Given the description of an element on the screen output the (x, y) to click on. 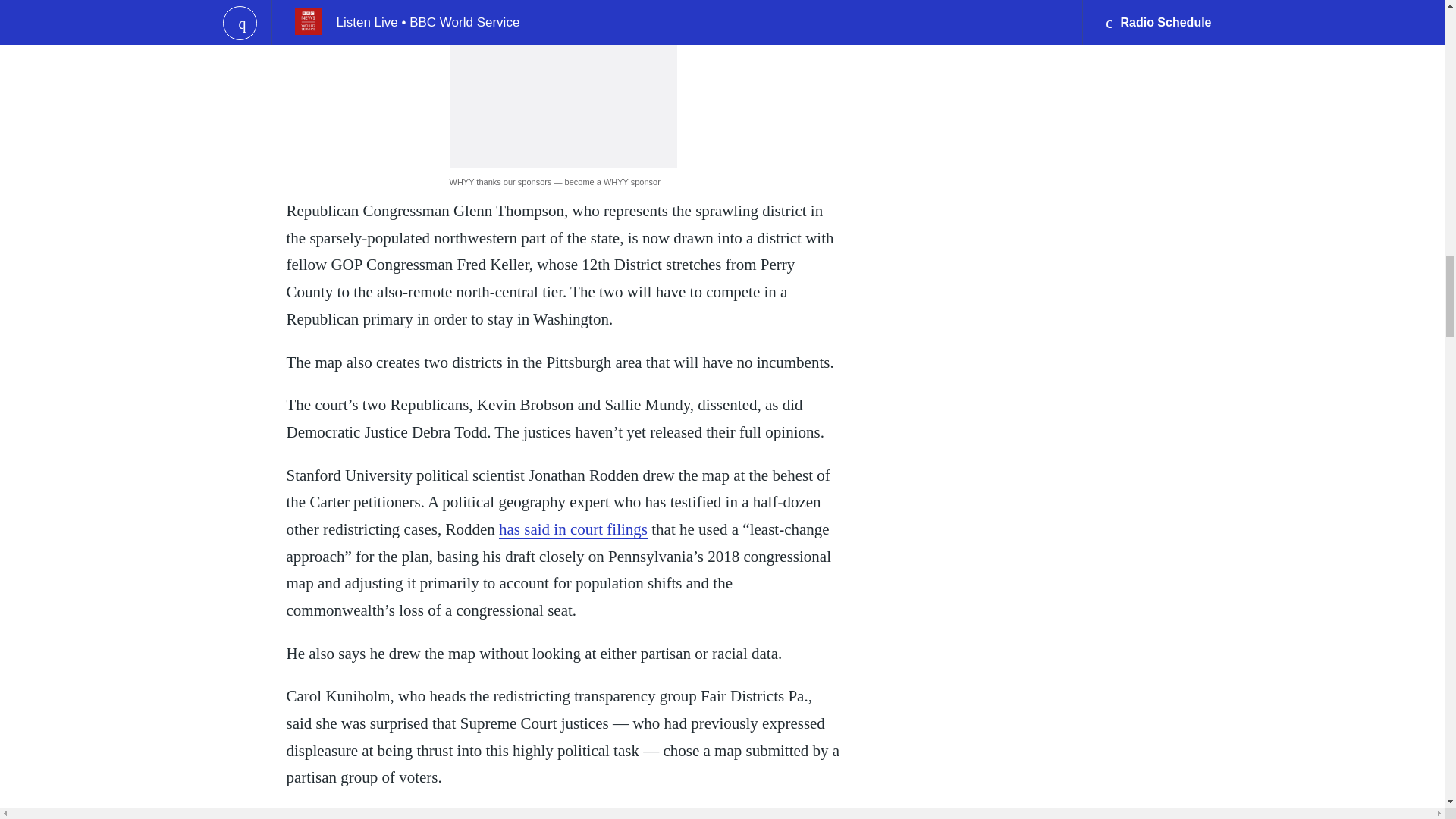
3rd party ad content (562, 83)
